Given the description of an element on the screen output the (x, y) to click on. 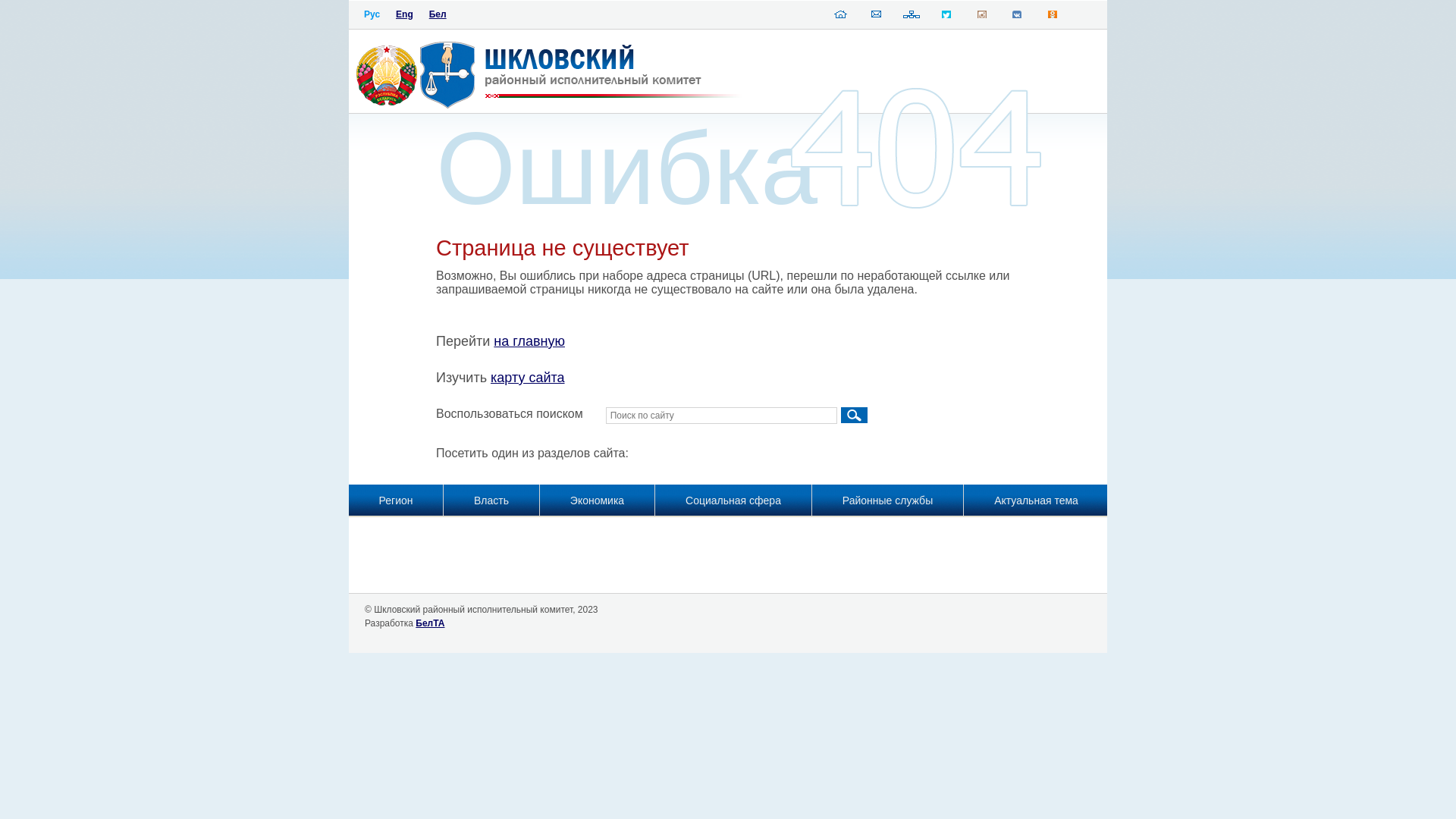
https://ok.ru Element type: hover (1052, 17)
VK  Element type: hover (1016, 17)
twitter Element type: hover (945, 17)
Eng Element type: text (404, 14)
instagram Element type: hover (981, 17)
